Given the description of an element on the screen output the (x, y) to click on. 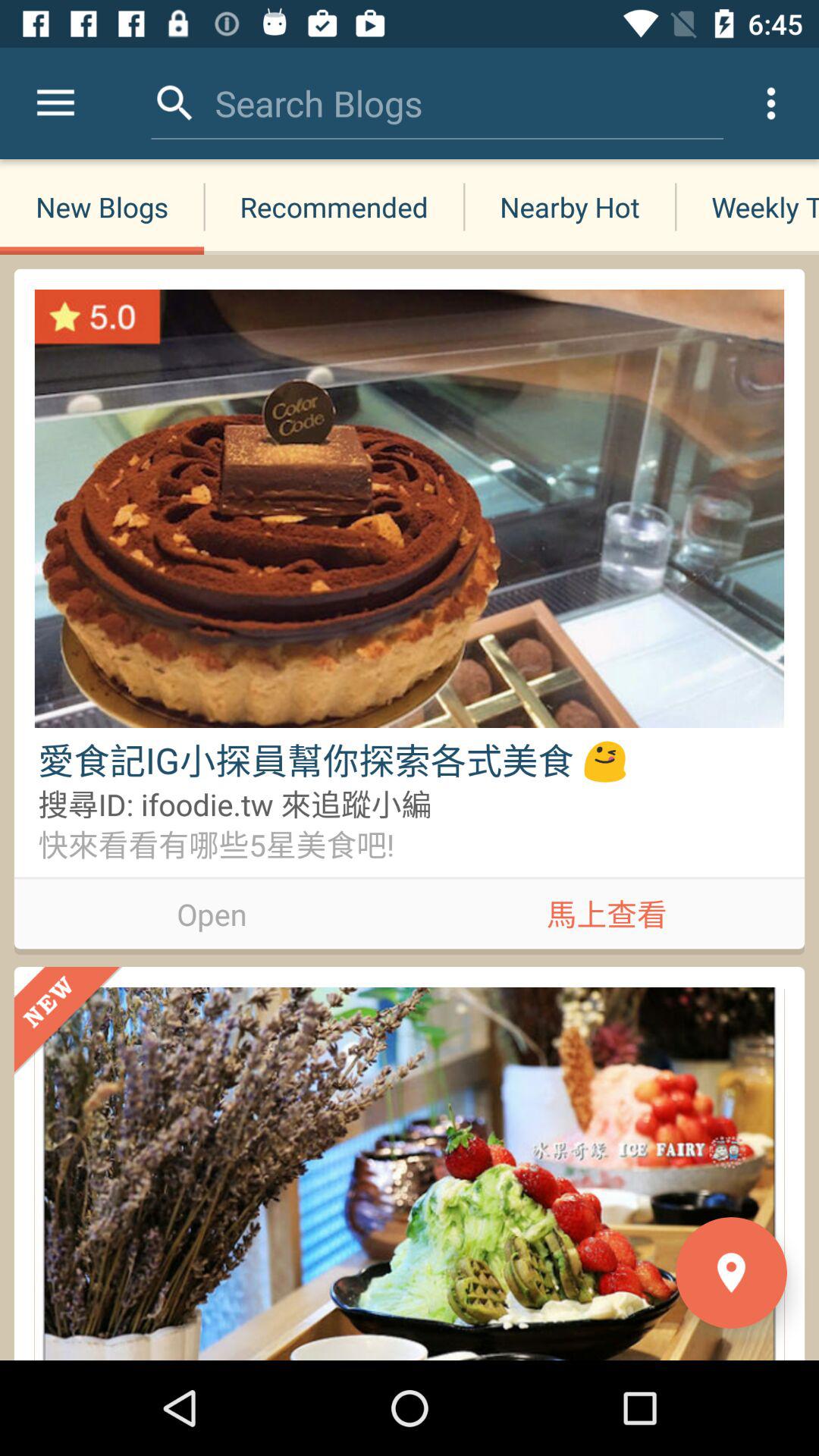
click app on the right (606, 910)
